Given the description of an element on the screen output the (x, y) to click on. 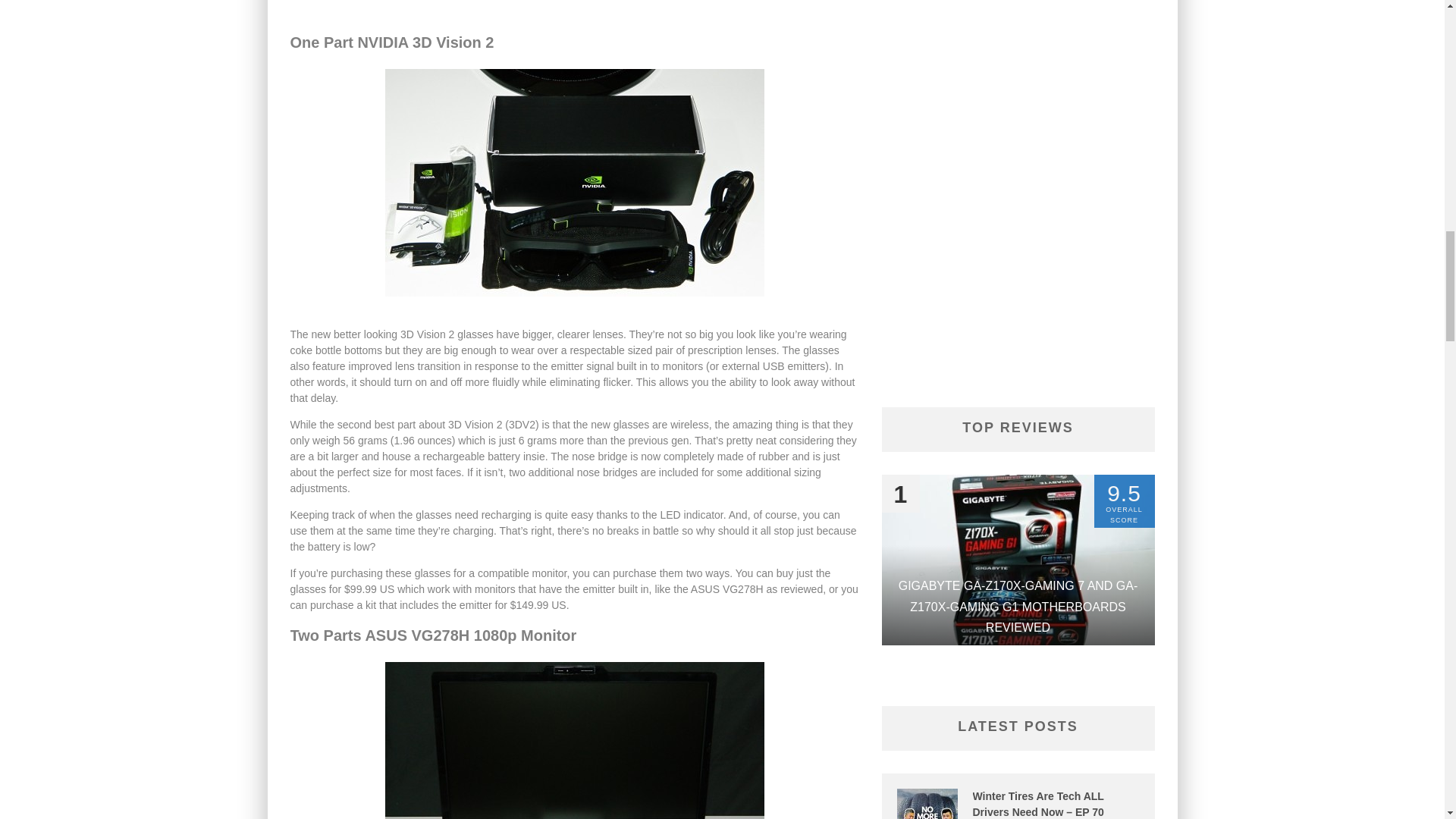
Advertisement (574, 7)
